Given the description of an element on the screen output the (x, y) to click on. 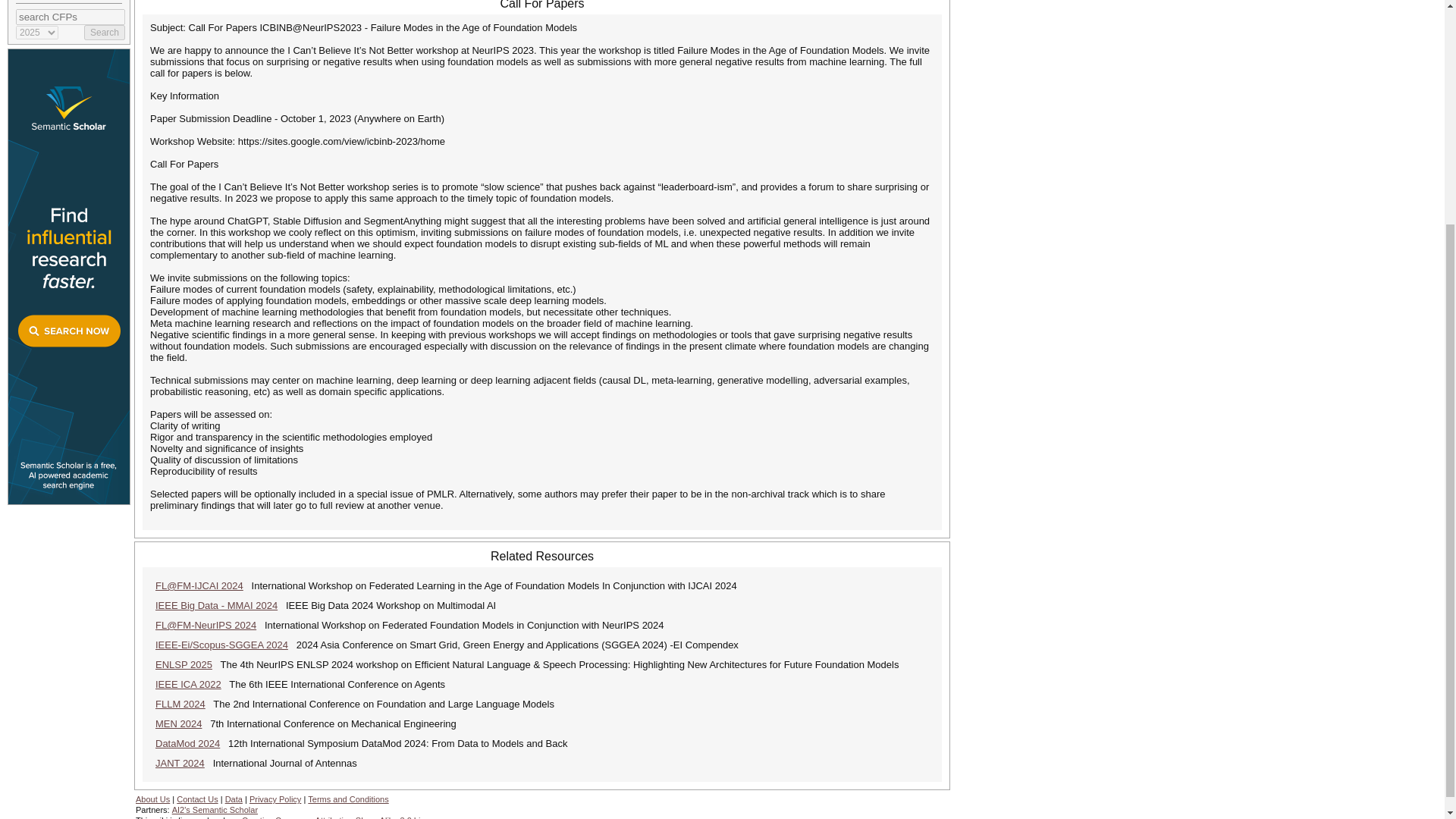
FLLM 2024 (180, 704)
Search (104, 32)
ENLSP 2025 (183, 664)
Search (104, 32)
IEEE ICA 2022 (188, 684)
Search (104, 32)
IEEE Big Data - MMAI 2024 (216, 604)
